Given the description of an element on the screen output the (x, y) to click on. 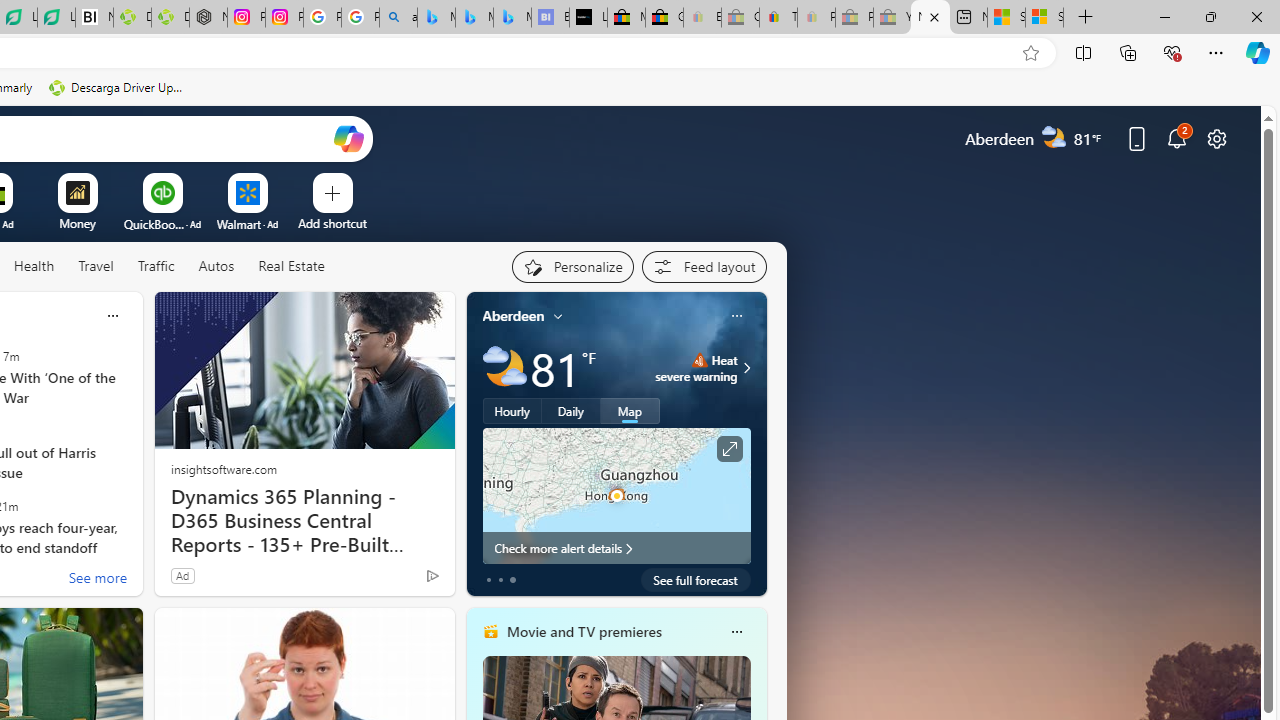
Class: weather-arrow-glyph (746, 367)
LendingTree - Compare Lenders (56, 17)
Shanghai, China hourly forecast | Microsoft Weather (1006, 17)
Movie and TV premieres (583, 631)
See full forecast (695, 579)
